Given the description of an element on the screen output the (x, y) to click on. 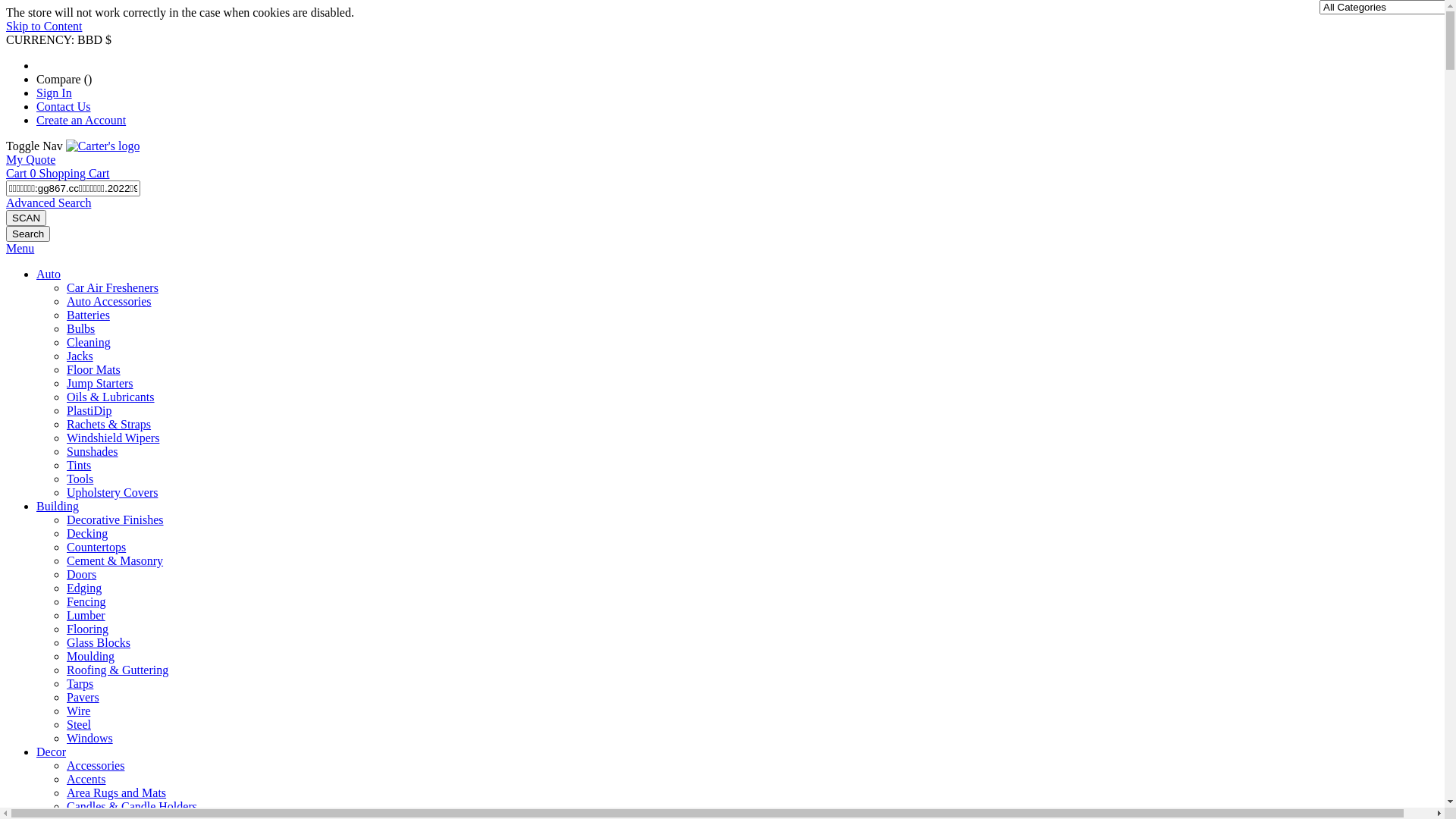
Windshield Wipers Element type: text (112, 437)
Jump Starters Element type: text (99, 382)
Sign In Element type: text (54, 92)
Building Element type: text (57, 505)
Moulding Element type: text (90, 655)
Car Air Fresheners Element type: text (112, 287)
Area Rugs and Mats Element type: text (116, 792)
Tarps Element type: text (79, 683)
Shopping Cart Element type: text (74, 172)
Skip to Content Element type: text (43, 25)
Jacks Element type: text (79, 355)
Accents Element type: text (86, 778)
Lumber Element type: text (85, 614)
Rachets & Straps Element type: text (108, 423)
Menu Element type: text (20, 247)
Flooring Element type: text (87, 628)
PlastiDip Element type: text (89, 410)
Bulbs Element type: text (80, 328)
Compare () Element type: text (63, 78)
Auto Element type: text (48, 273)
Glass Blocks Element type: text (98, 642)
Tints Element type: text (78, 464)
Tools Element type: text (79, 478)
Doors Element type: text (81, 573)
Cement & Masonry Element type: text (114, 560)
Carter's logo Element type: hover (102, 145)
Upholstery Covers Element type: text (111, 492)
Cart 0 Element type: text (22, 172)
Auto Accessories Element type: text (108, 300)
Edging Element type: text (83, 587)
Decorative Finishes Element type: text (114, 519)
Steel Element type: text (78, 724)
Candles & Candle Holders Element type: text (131, 806)
Cleaning Element type: text (88, 341)
Windows Element type: text (89, 737)
Batteries Element type: text (87, 314)
Roofing & Guttering Element type: text (117, 669)
Floor Mats Element type: text (93, 369)
SCAN Element type: text (26, 217)
Sunshades Element type: text (92, 451)
Create an Account Element type: text (80, 119)
Oils & Lubricants Element type: text (110, 396)
My Quote Element type: text (30, 159)
Decking Element type: text (86, 533)
Search Element type: text (28, 233)
Contact Us Element type: text (63, 106)
Countertops Element type: text (95, 546)
Pavers Element type: text (82, 696)
Wire Element type: text (78, 710)
Accessories Element type: text (95, 765)
Advanced Search Element type: text (48, 202)
Fencing Element type: text (86, 601)
Decor Element type: text (50, 751)
